Given the description of an element on the screen output the (x, y) to click on. 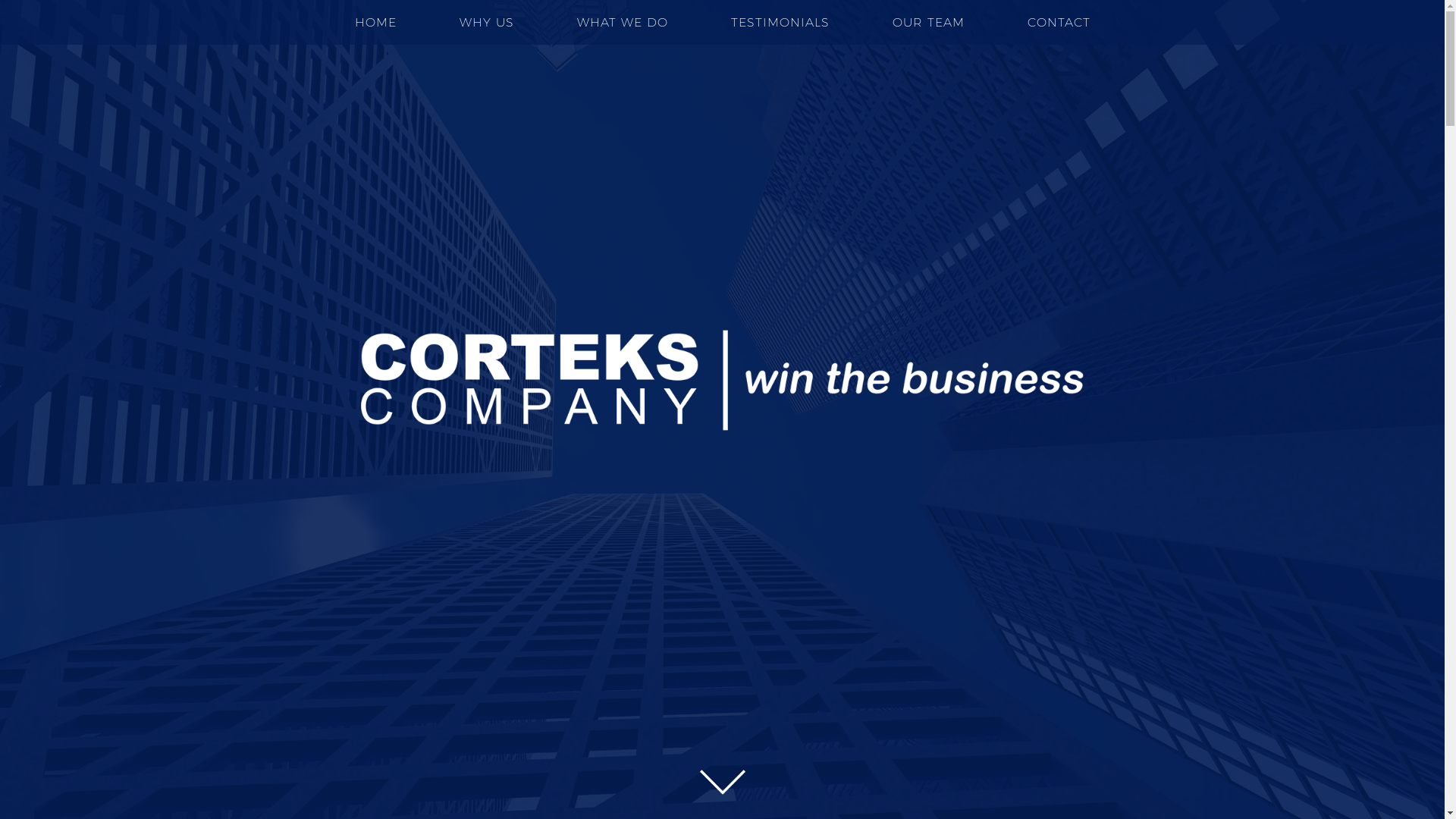
WHY US Element type: text (486, 22)
HOME Element type: text (375, 22)
CONTACT Element type: text (1058, 22)
WHAT WE DO Element type: text (621, 22)
OUR TEAM Element type: text (927, 22)
TESTIMONIALS Element type: text (779, 22)
